Given the description of an element on the screen output the (x, y) to click on. 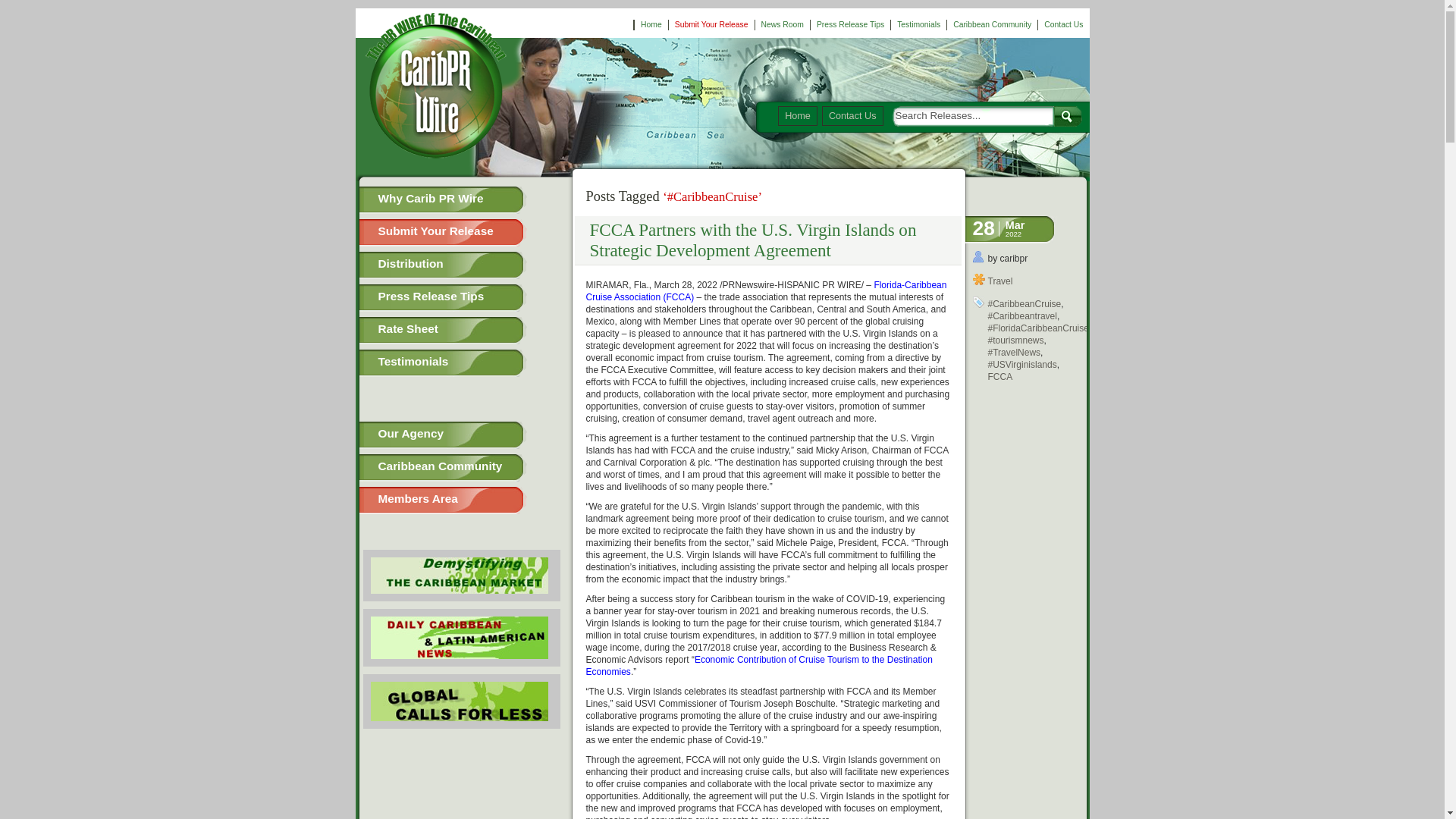
Rate Sheet (461, 329)
Contact Us (852, 116)
Our Agency (461, 434)
Press Release Tips (461, 298)
Contact Us (1063, 24)
Testimonials (461, 362)
Contact Us (1063, 24)
Testimonials (918, 24)
Press Release Tips (849, 24)
Caribbean Community (461, 467)
